Given the description of an element on the screen output the (x, y) to click on. 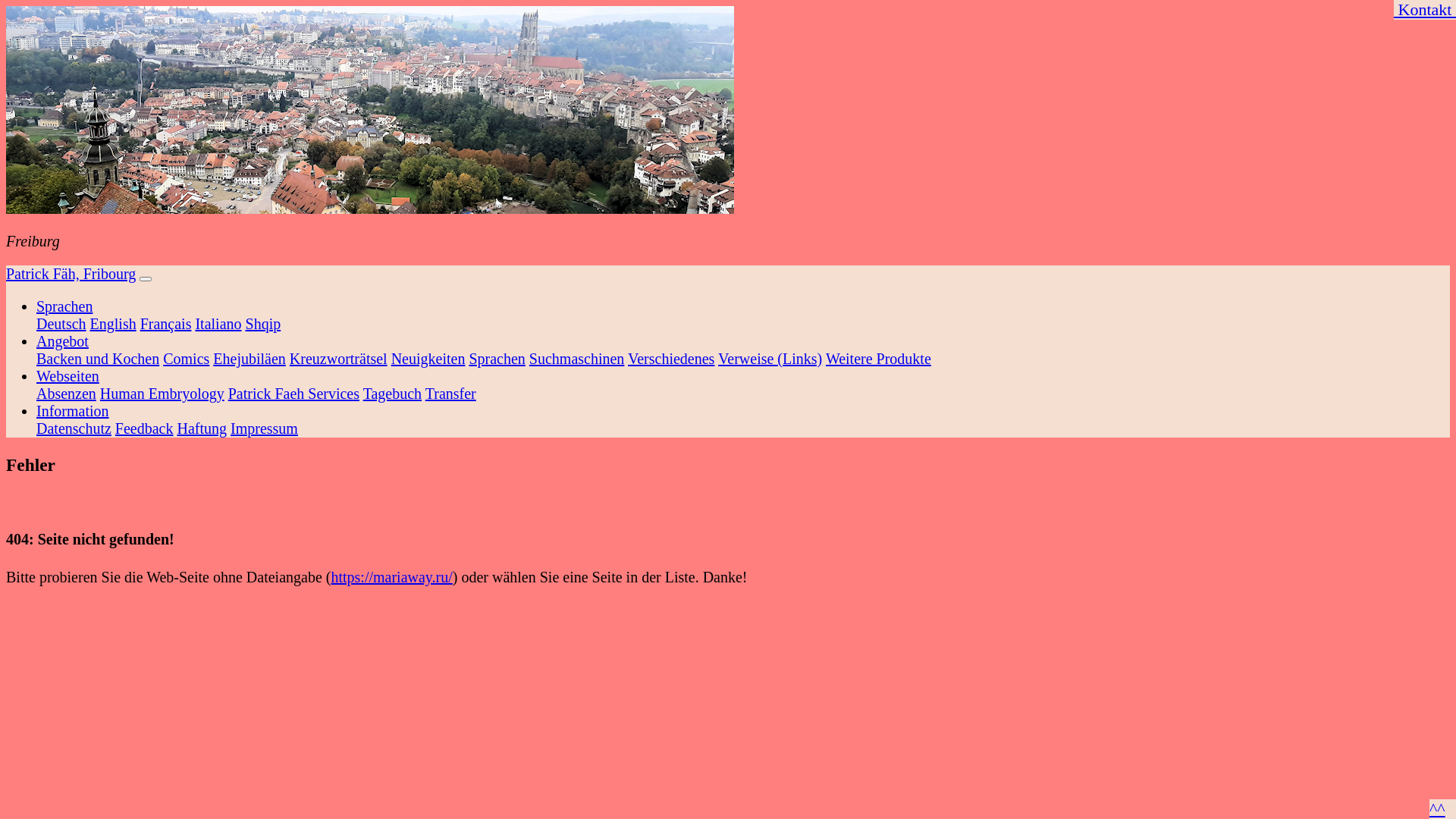
Patrick Faeh Services Element type: text (293, 393)
Sprachen Element type: text (64, 306)
https://mariaway.ru/ Element type: text (390, 576)
Italiano Element type: text (217, 323)
Weitere Produkte Element type: text (878, 358)
Information Element type: text (72, 410)
Transfer Element type: text (450, 393)
Human Embryology Element type: text (162, 393)
Haftung Element type: text (202, 428)
^^ Element type: text (1437, 808)
Webseiten Element type: text (67, 375)
Tagebuch Element type: text (392, 393)
Angebot Element type: text (62, 340)
Verweise (Links) Element type: text (770, 358)
English Element type: text (113, 323)
Comics Element type: text (186, 358)
Absenzen Element type: text (66, 393)
Verschiedenes Element type: text (670, 358)
Datenschutz Element type: text (73, 428)
Neuigkeiten Element type: text (428, 358)
Suchmaschinen Element type: text (576, 358)
Backen und Kochen Element type: text (97, 358)
Deutsch Element type: text (61, 323)
Shqip Element type: text (263, 323)
Sprachen Element type: text (496, 358)
Feedback Element type: text (144, 428)
Impressum Element type: text (264, 428)
